Given the description of an element on the screen output the (x, y) to click on. 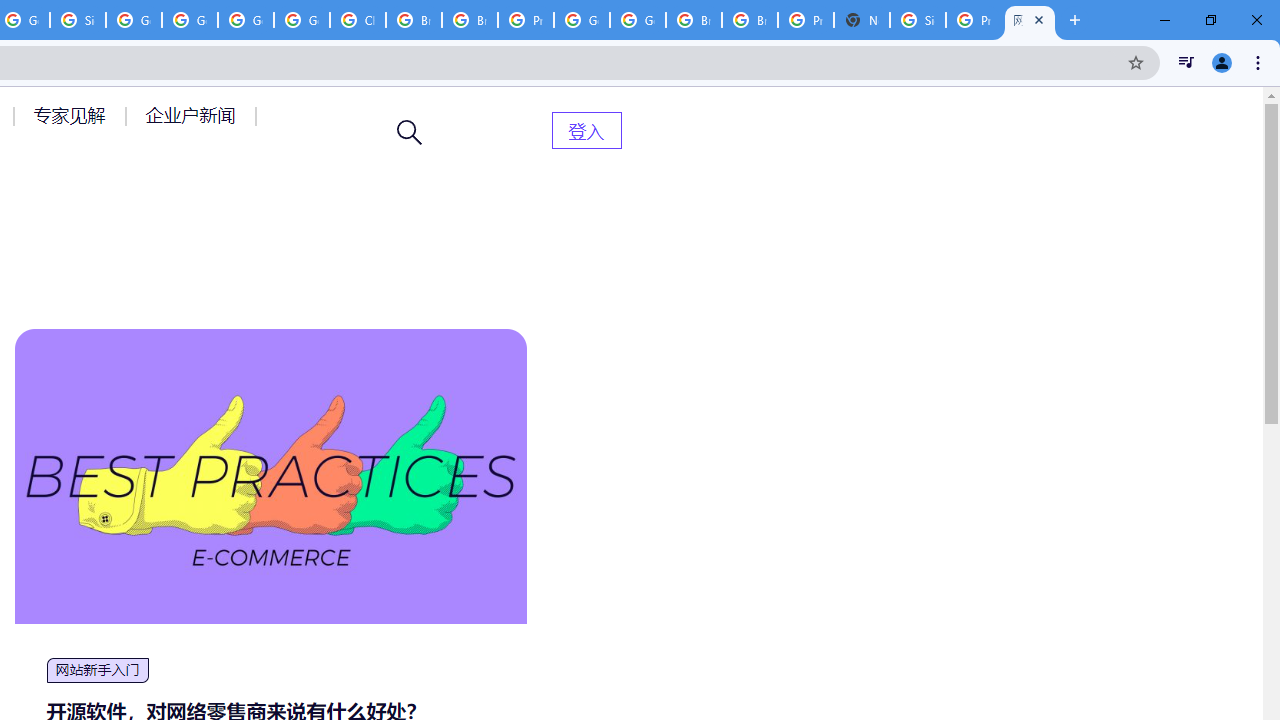
Google Cloud Platform (582, 20)
